Given the description of an element on the screen output the (x, y) to click on. 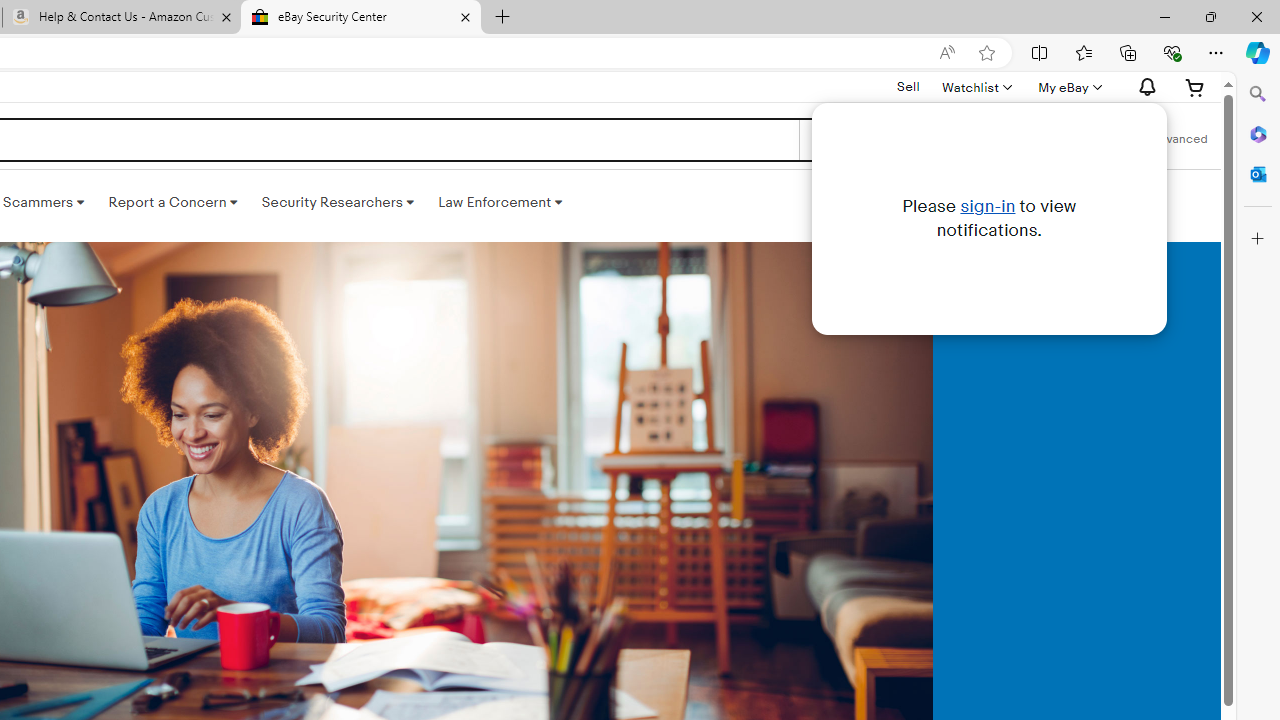
Security Researchers  (337, 202)
eBay Security Center (360, 17)
Security Researchers  (337, 202)
Please sign-in to view notifications. (1144, 87)
WatchlistExpand Watch List (975, 87)
Law Enforcement  (500, 202)
Sell (908, 87)
Expand Cart (1195, 87)
Please sign-in to view notifications. (989, 218)
